Given the description of an element on the screen output the (x, y) to click on. 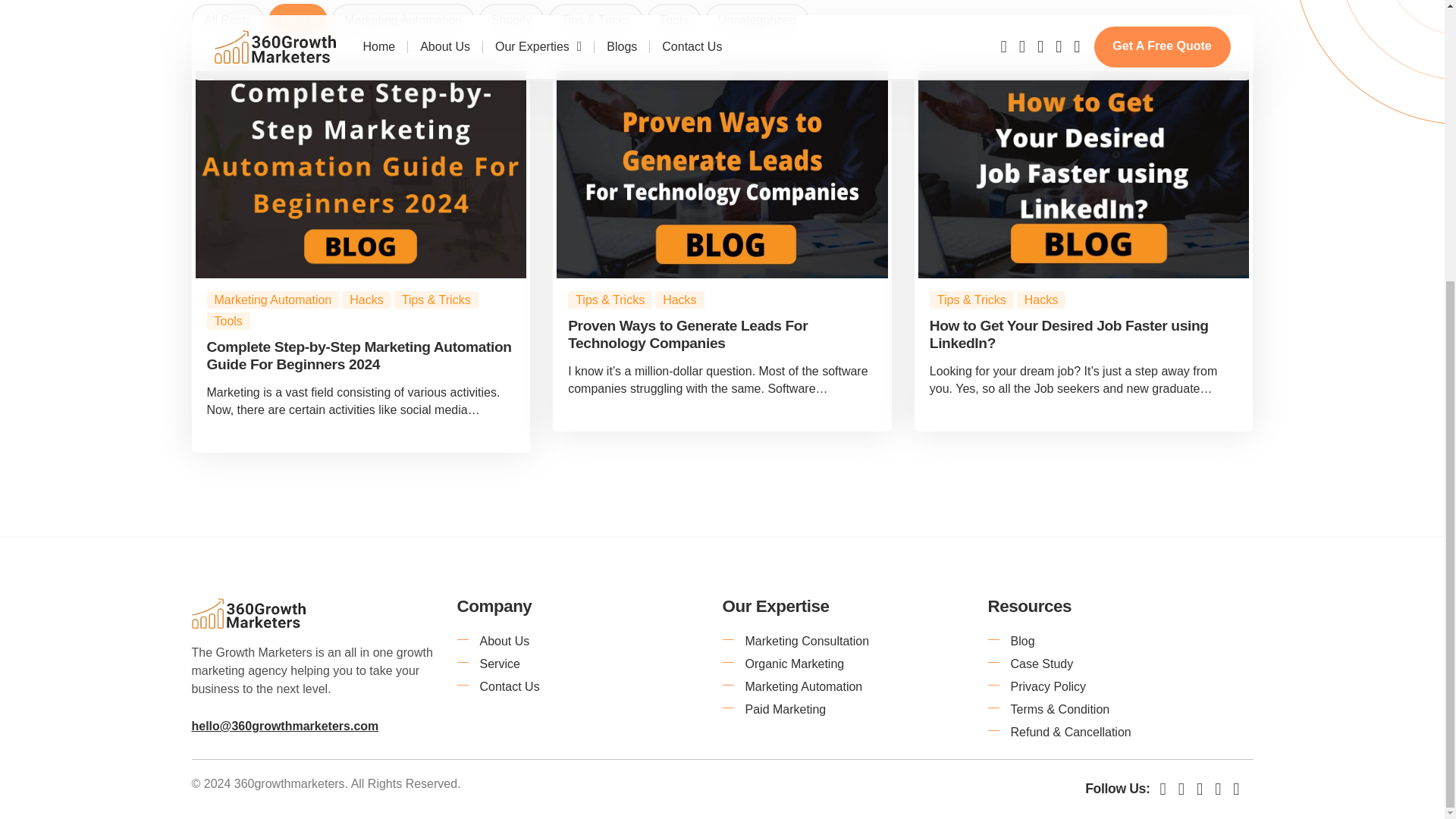
Marketing Automation (402, 20)
Hacks (297, 20)
Tools (227, 321)
Shopify (511, 20)
Uncategorized (756, 20)
Hacks (366, 299)
Tools (673, 20)
About Us (589, 640)
Proven Ways to Generate Leads For Technology Companies (687, 334)
Service (589, 663)
Contact Us (589, 686)
Hacks (679, 299)
How to Get Your Desired Job Faster using LinkedIn? (1069, 334)
Marketing Automation (272, 299)
